Given the description of an element on the screen output the (x, y) to click on. 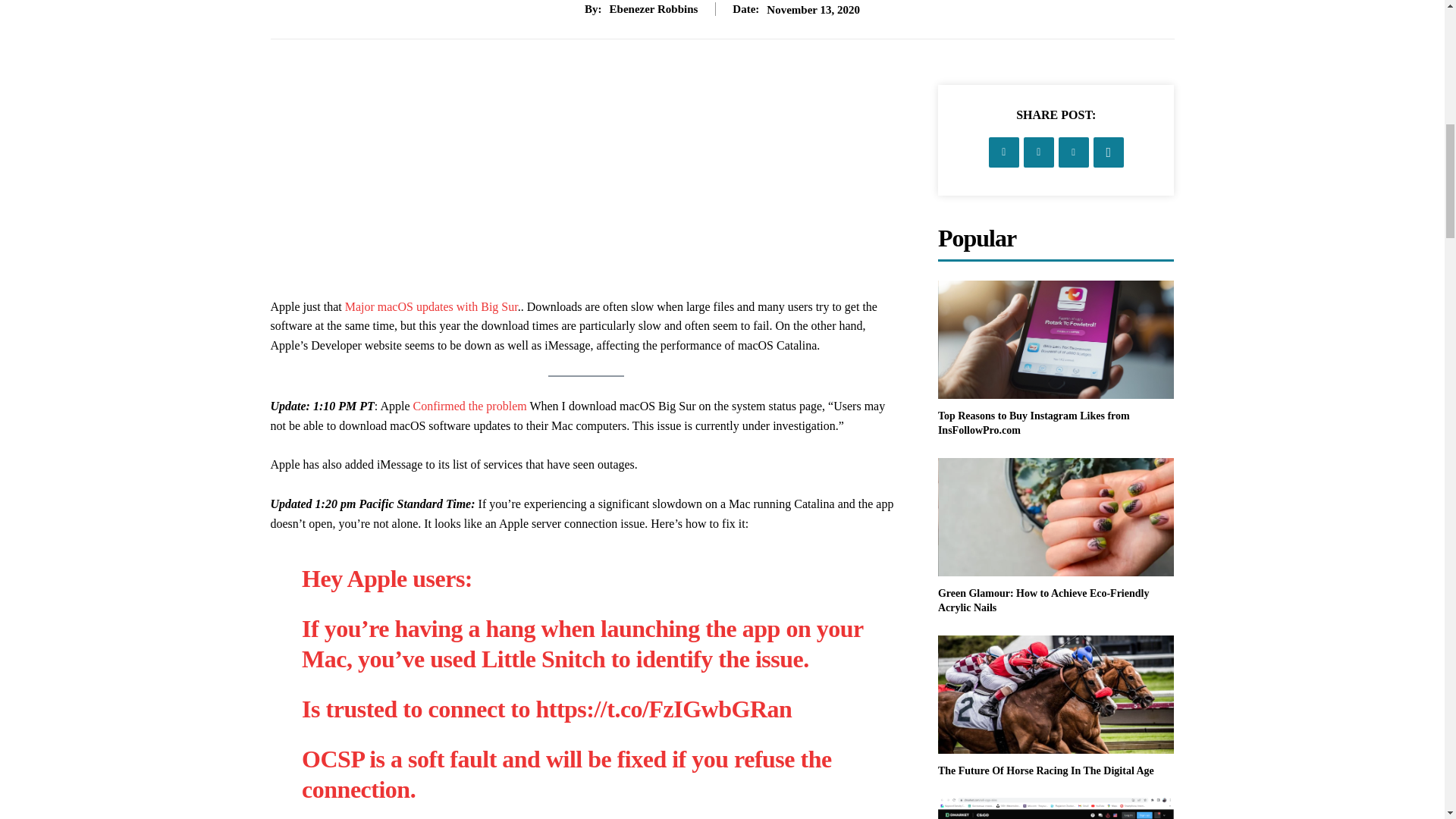
Pinterest (1073, 152)
Green Glamour: How to Achieve Eco-Friendly Acrylic Nails (1055, 516)
Top Reasons to Buy Instagram Likes from InsFollowPro.com (1055, 339)
WhatsApp (1108, 152)
Twitter (1038, 152)
Facebook (1003, 152)
Advertisement (585, 191)
Top Reasons to Buy Instagram Likes from InsFollowPro.com (1033, 423)
